Given the description of an element on the screen output the (x, y) to click on. 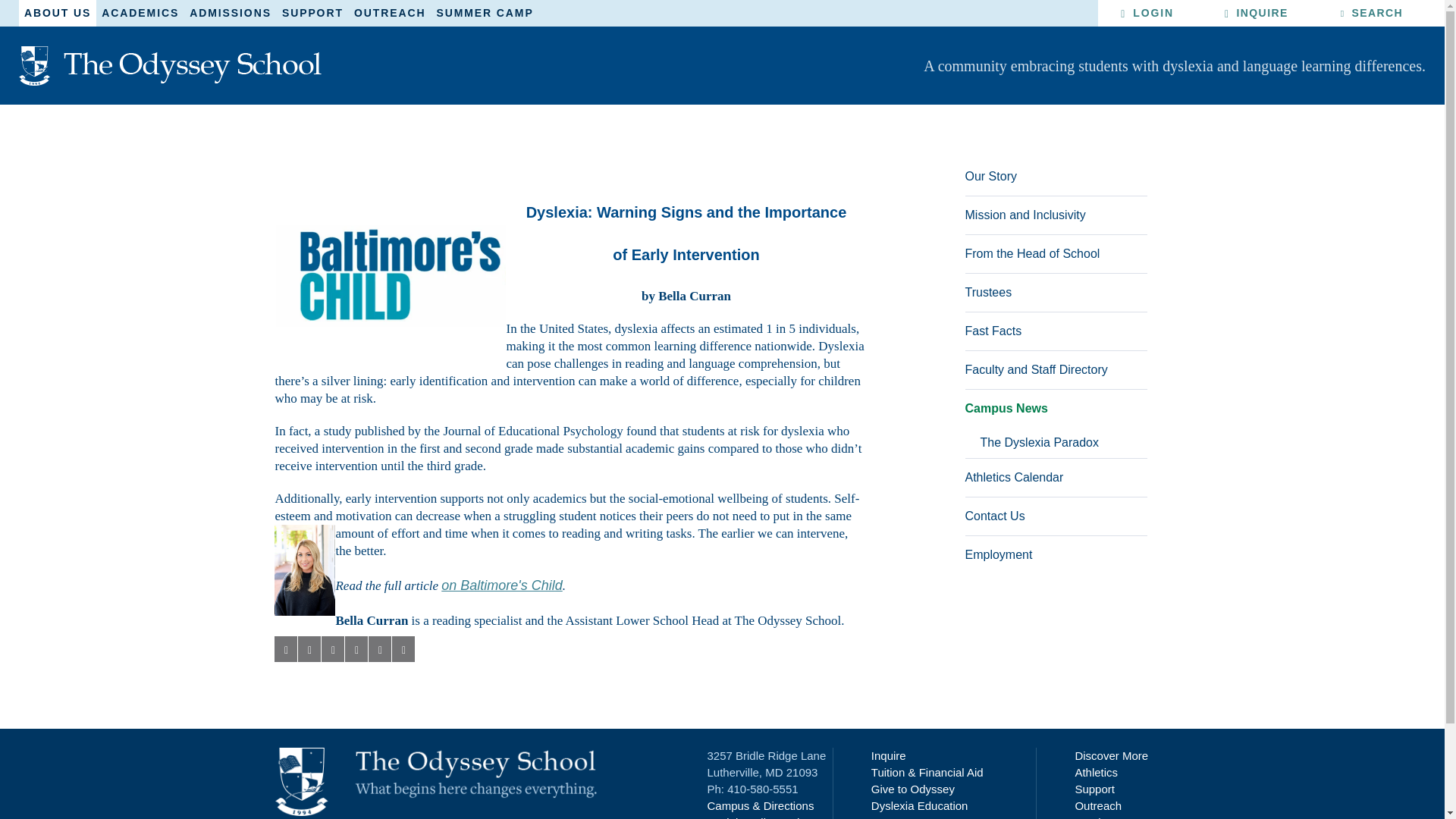
SUPPORT (312, 13)
ABOUT US (57, 13)
ADMISSIONS (230, 13)
ACADEMICS (140, 13)
Social Mashup (760, 817)
